Given the description of an element on the screen output the (x, y) to click on. 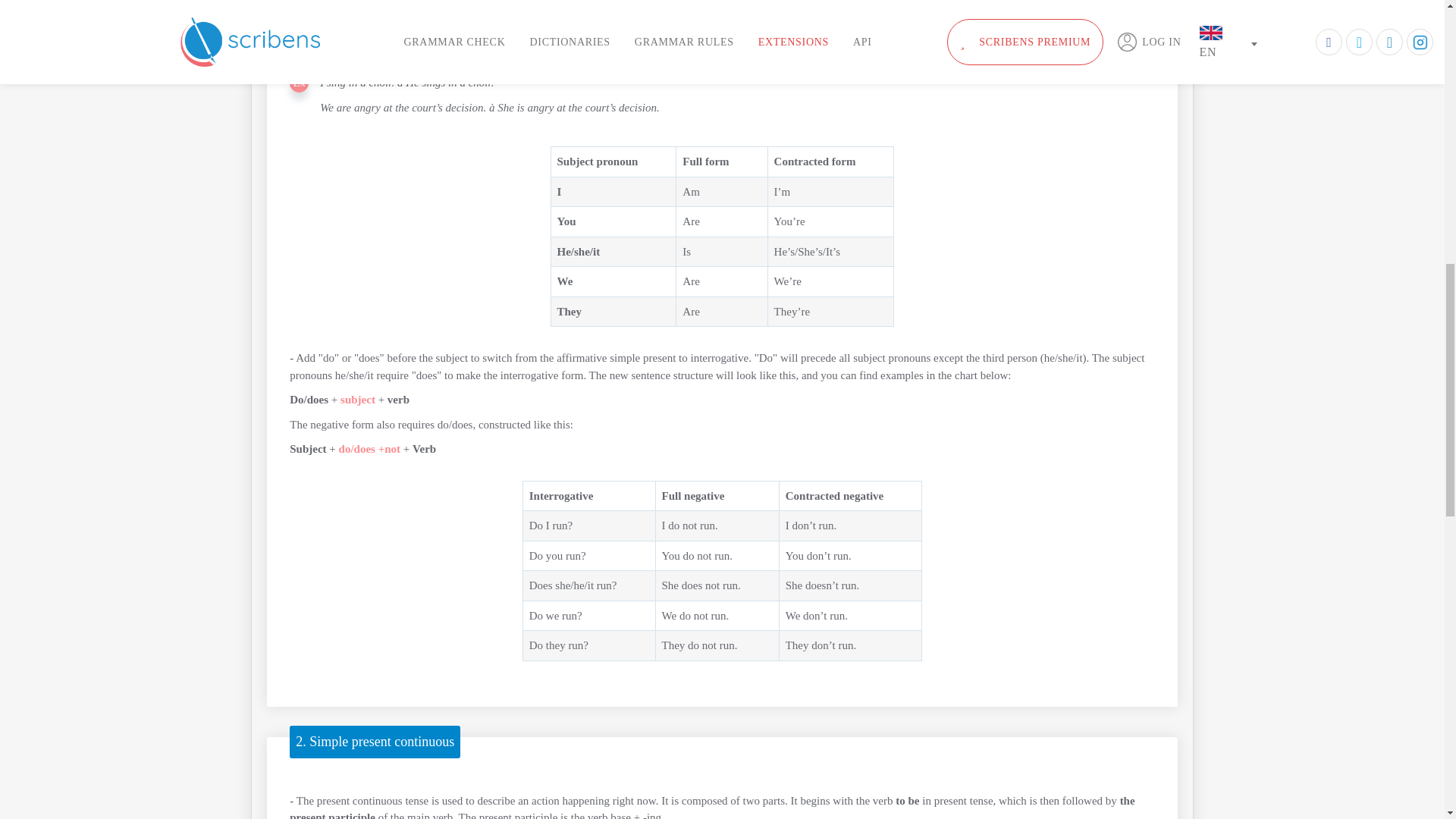
2. Simple present continuous (374, 741)
